Given the description of an element on the screen output the (x, y) to click on. 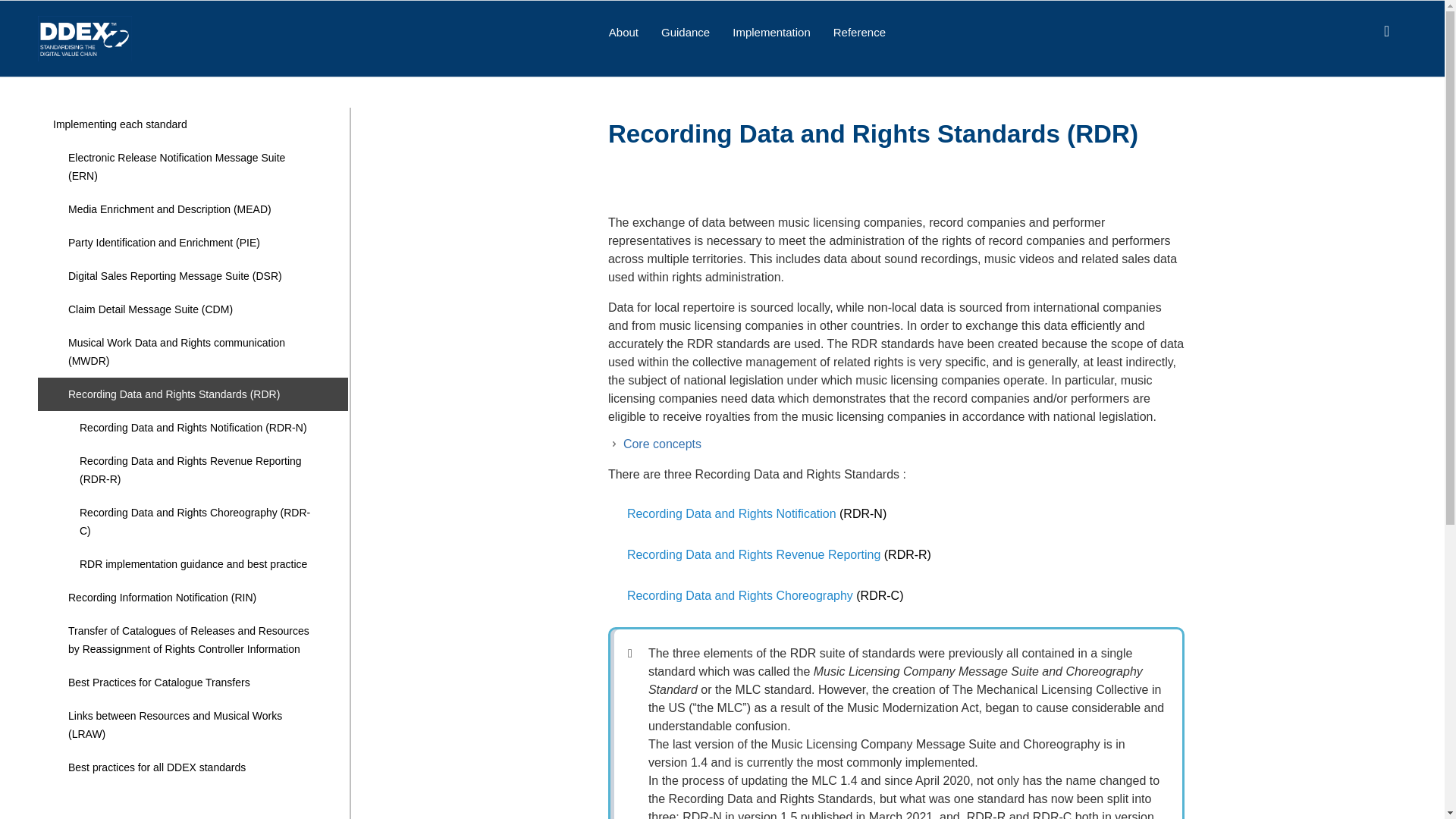
About (622, 31)
Reference (859, 31)
Implementing each standard (192, 123)
Implementation (771, 31)
Guidance (684, 31)
